Given the description of an element on the screen output the (x, y) to click on. 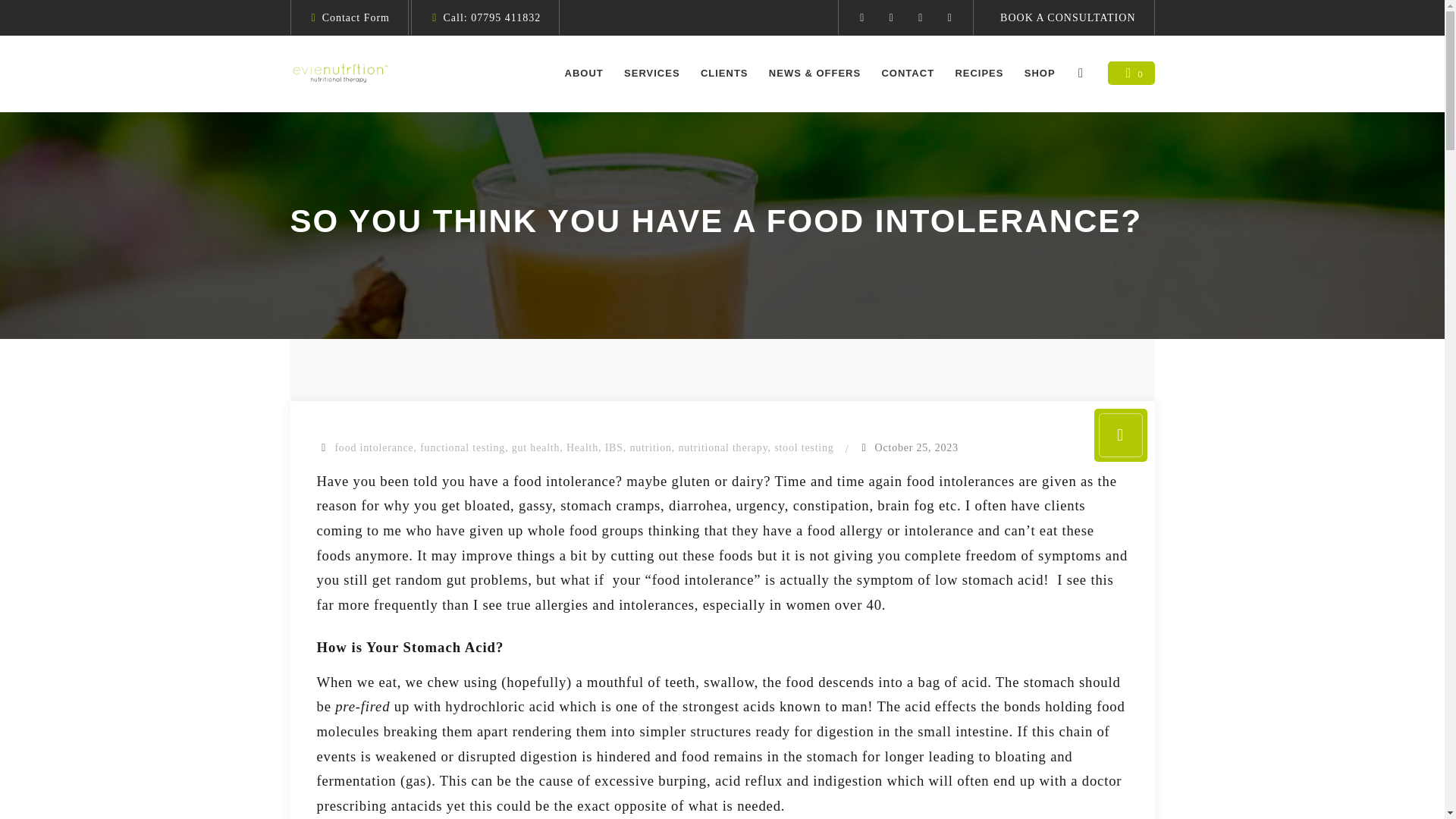
Evie Nutrition (339, 73)
0 (1131, 73)
Call: 07795 411832 (491, 17)
October 25, 2023 (916, 447)
Contact Form (355, 17)
BOOK A CONSULTATION (1067, 17)
